Given the description of an element on the screen output the (x, y) to click on. 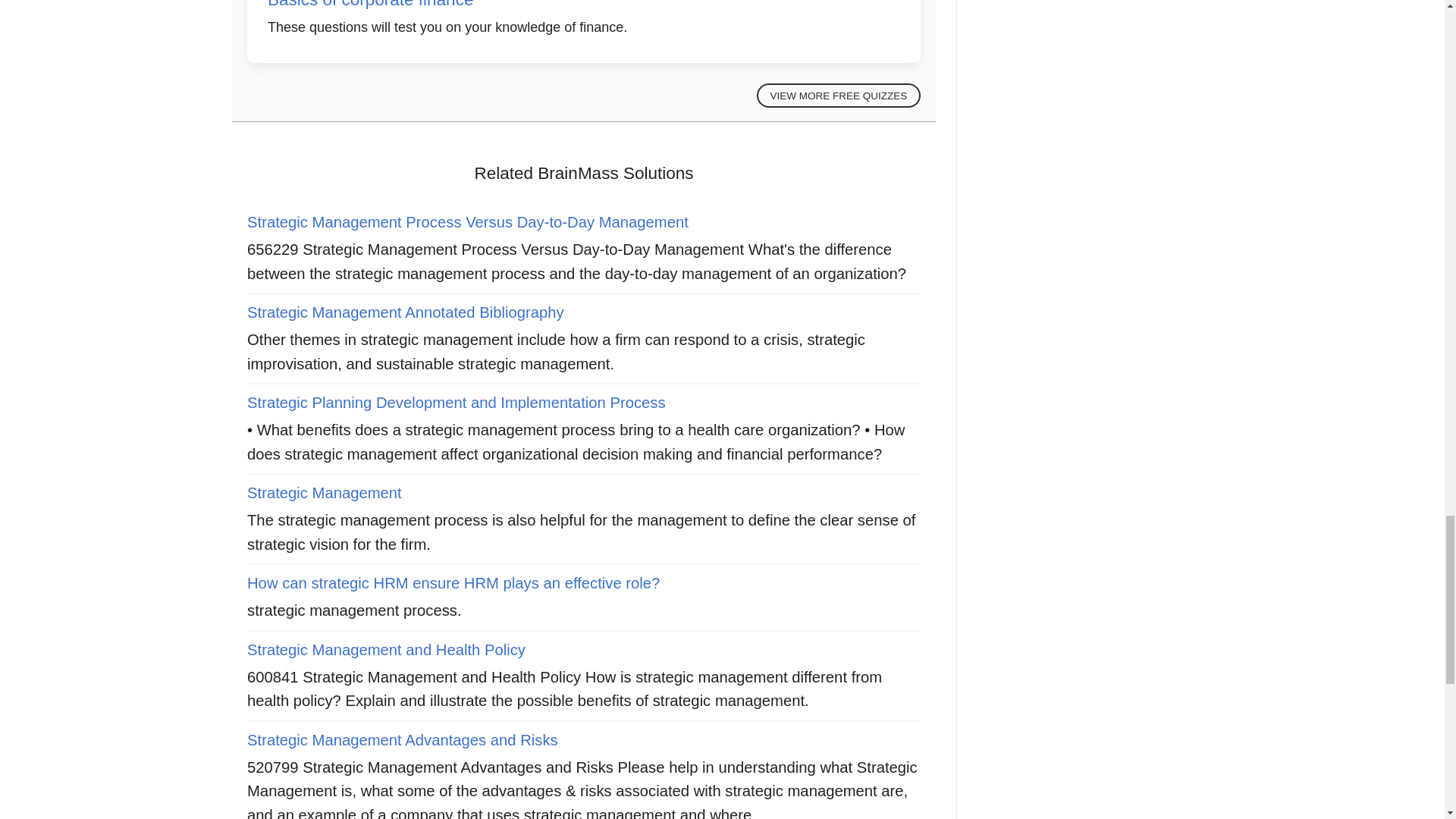
Basics of corporate finance (370, 4)
VIEW MORE FREE QUIZZES (838, 95)
Strategic Management Process Versus Day-to-Day Management (467, 221)
